Given the description of an element on the screen output the (x, y) to click on. 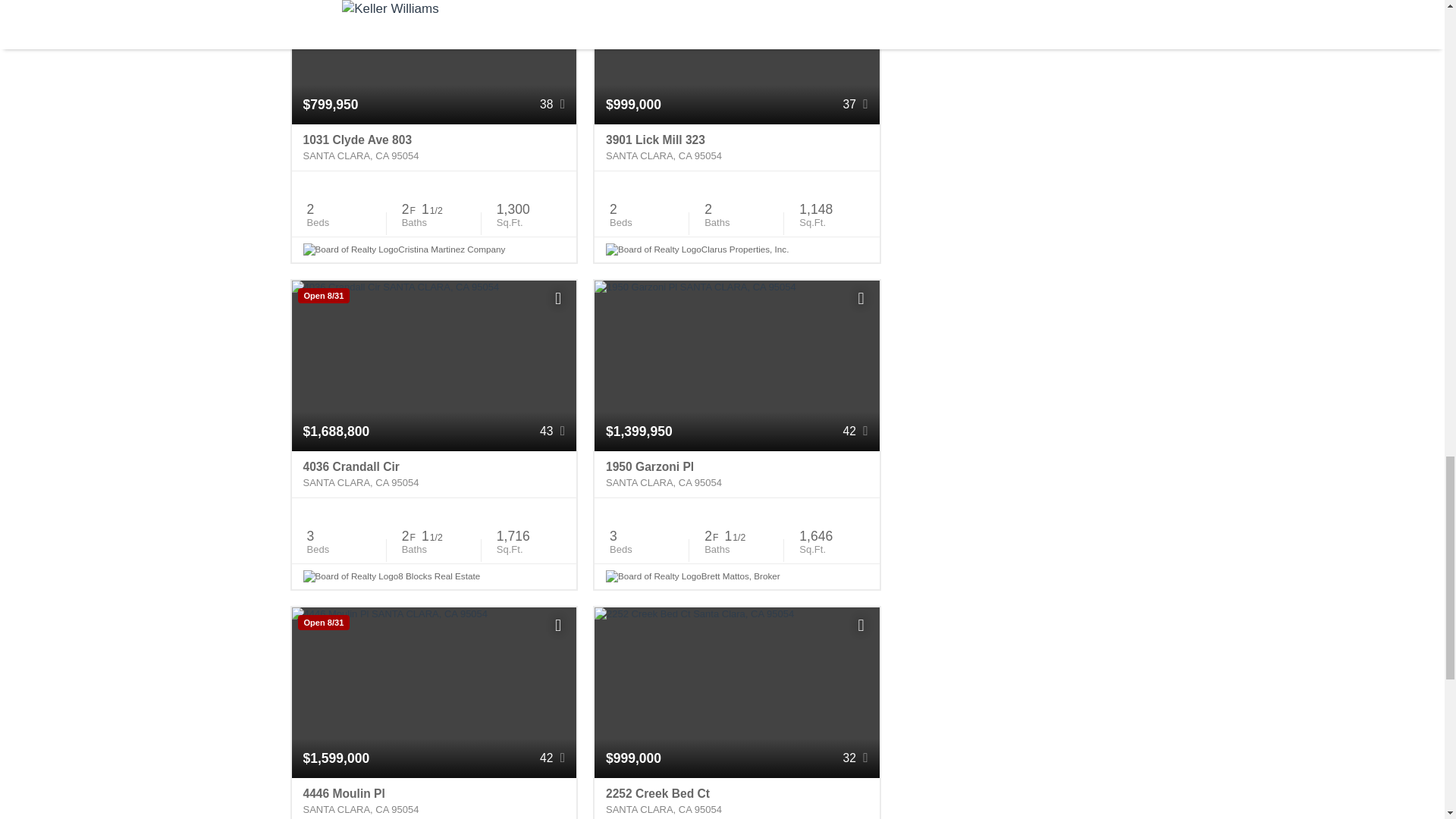
3901 Lick Mill 323 SANTA CLARA,  CA 95054 (736, 147)
1031 Clyde Ave 803 Santa Clara,  CA 95054 (433, 147)
4036 Crandall Cir SANTA CLARA,  CA 95054 (433, 474)
